Given the description of an element on the screen output the (x, y) to click on. 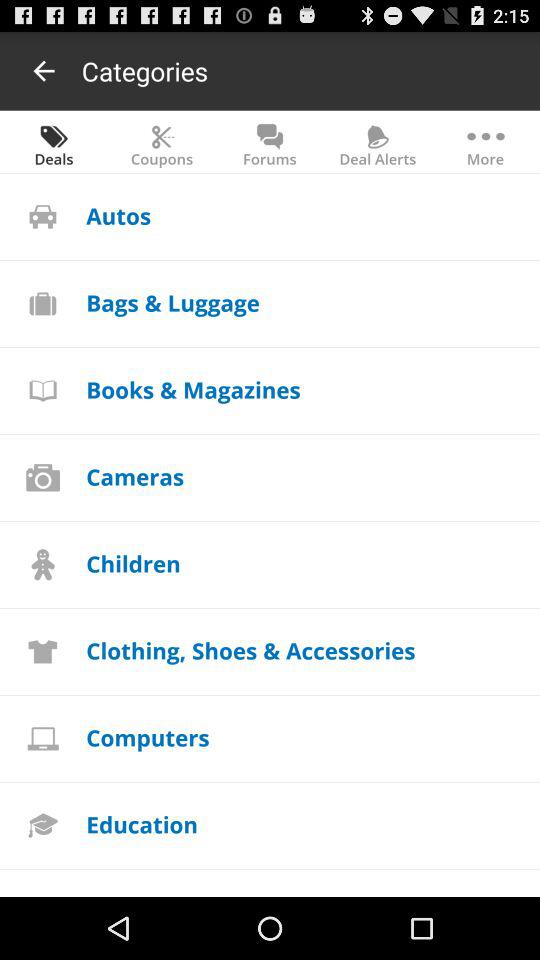
choose icon above the entertainment (142, 824)
